Given the description of an element on the screen output the (x, y) to click on. 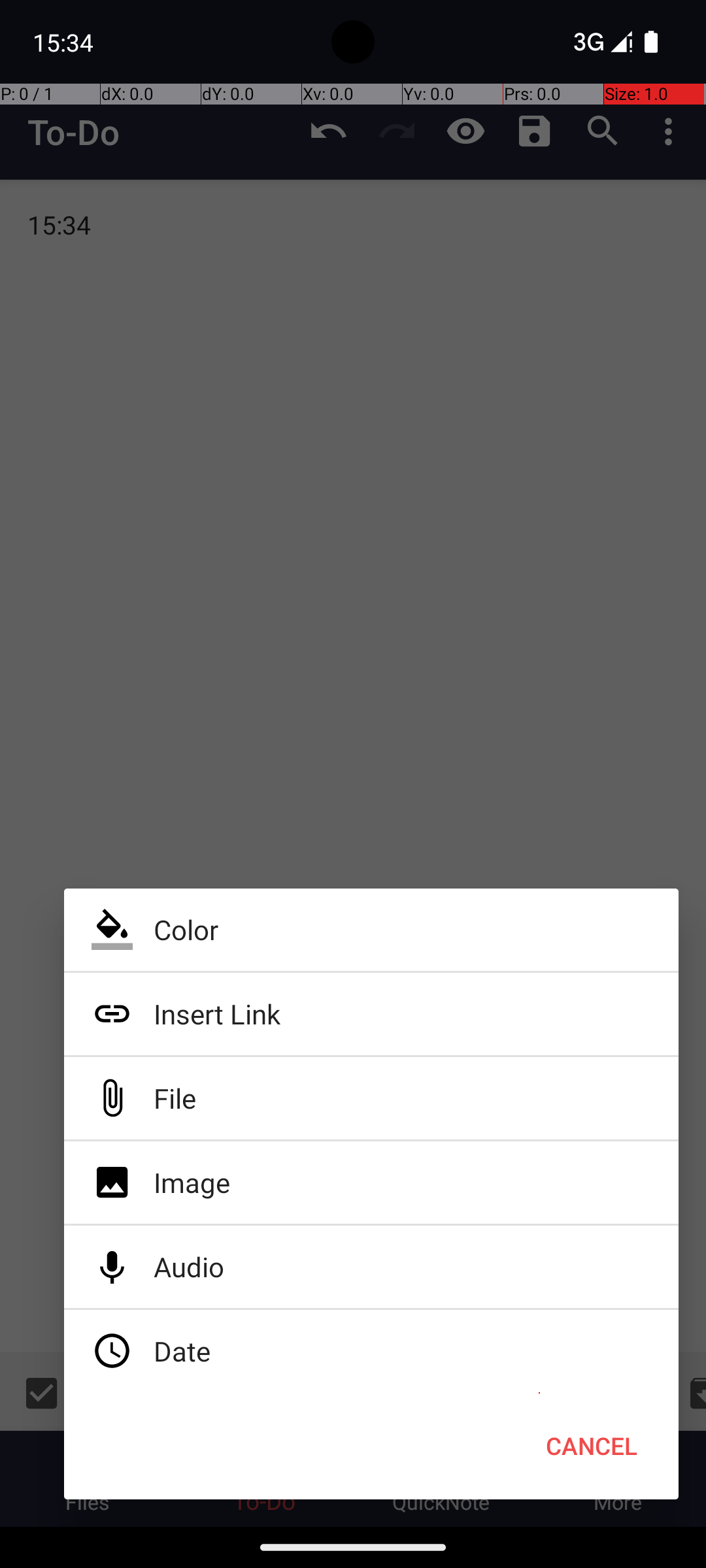
File Element type: android.widget.TextView (371, 1098)
